Given the description of an element on the screen output the (x, y) to click on. 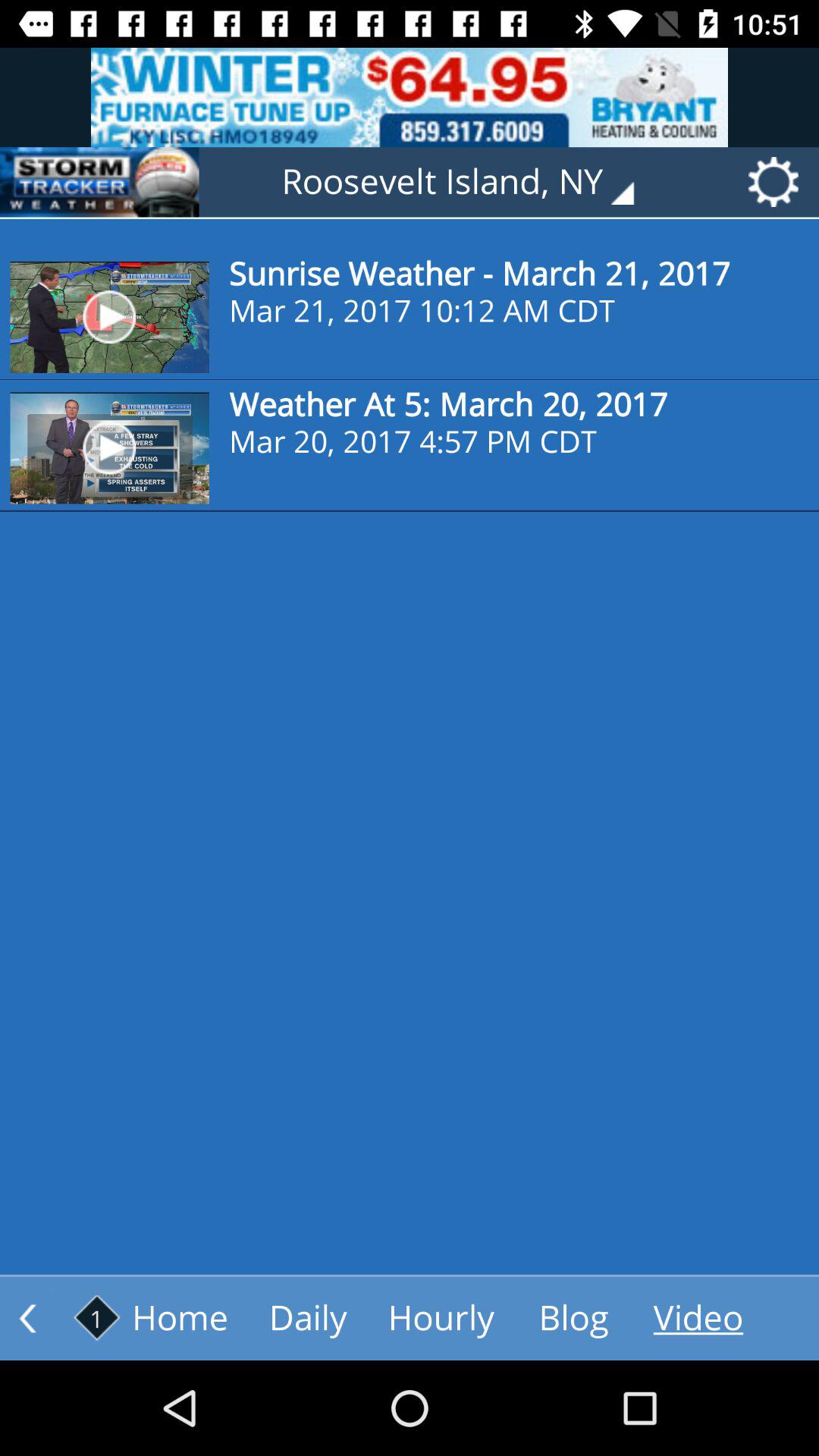
know about the advertisement (409, 97)
